Given the description of an element on the screen output the (x, y) to click on. 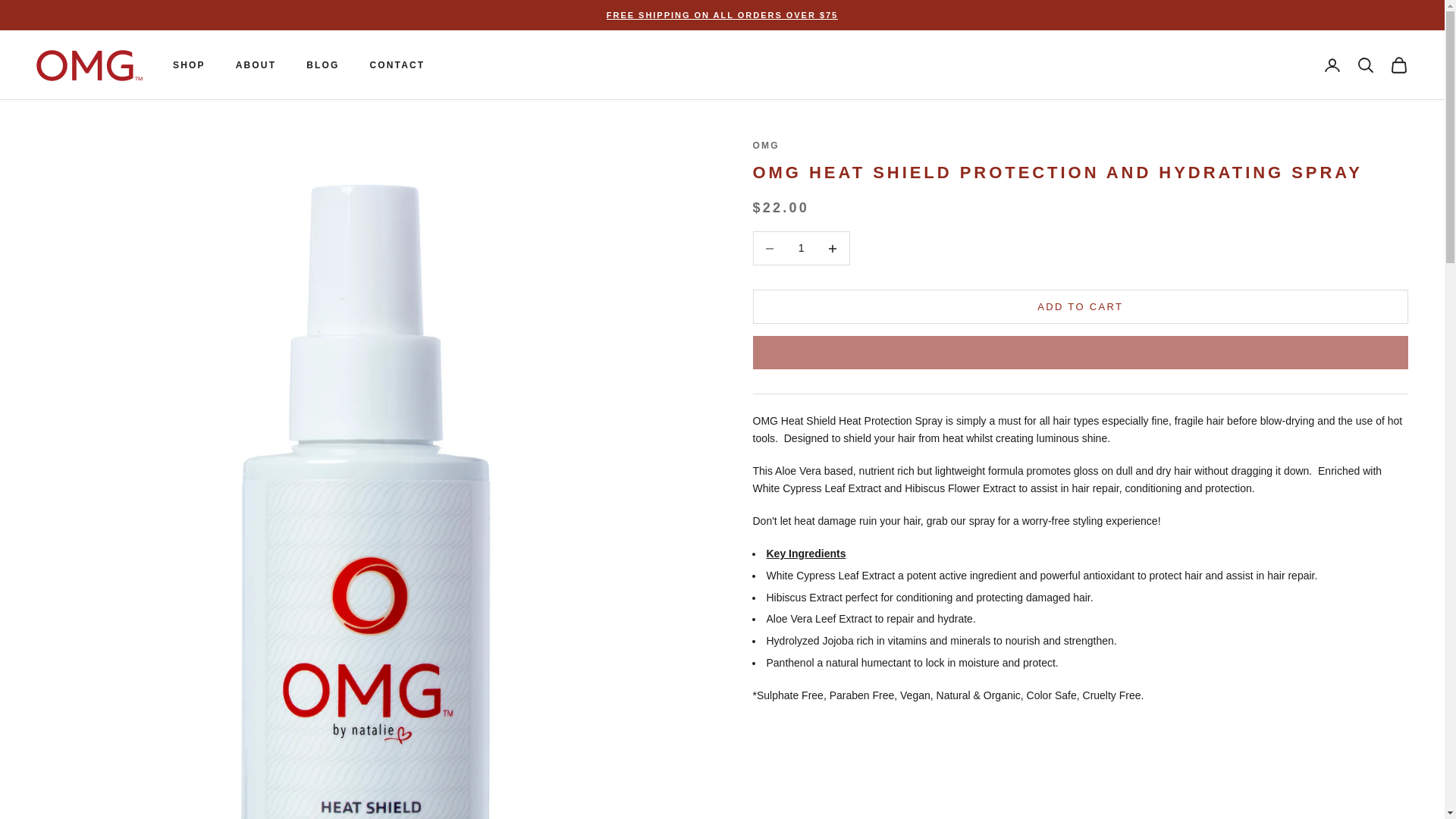
1 (801, 248)
Open search (1365, 65)
CONTACT (397, 64)
Open cart (1398, 65)
Open account page (1331, 65)
OMG (765, 145)
OMG Beauty Products (89, 65)
BLOG (322, 64)
ABOUT (255, 64)
